Given the description of an element on the screen output the (x, y) to click on. 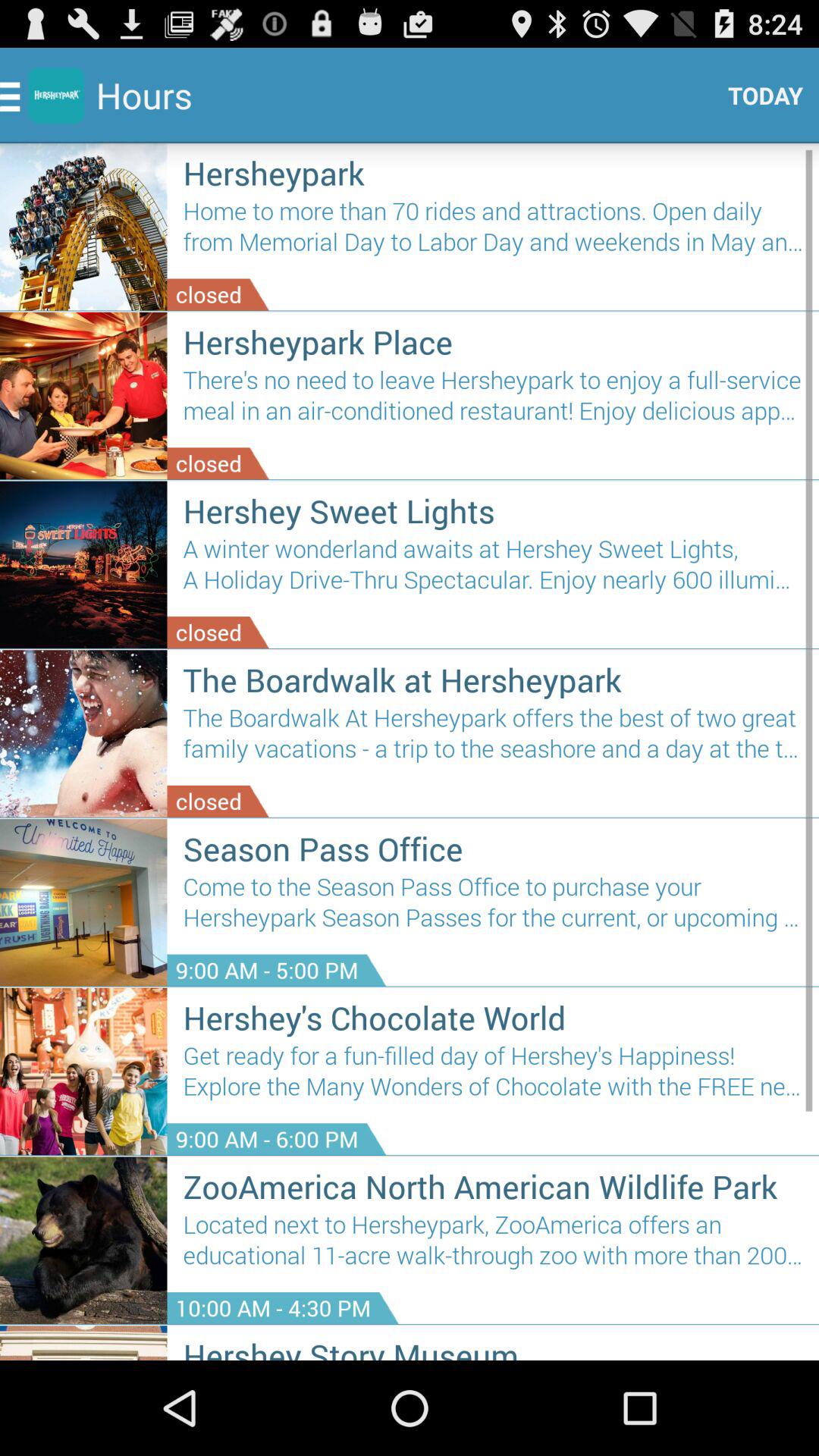
scroll until today item (759, 95)
